Given the description of an element on the screen output the (x, y) to click on. 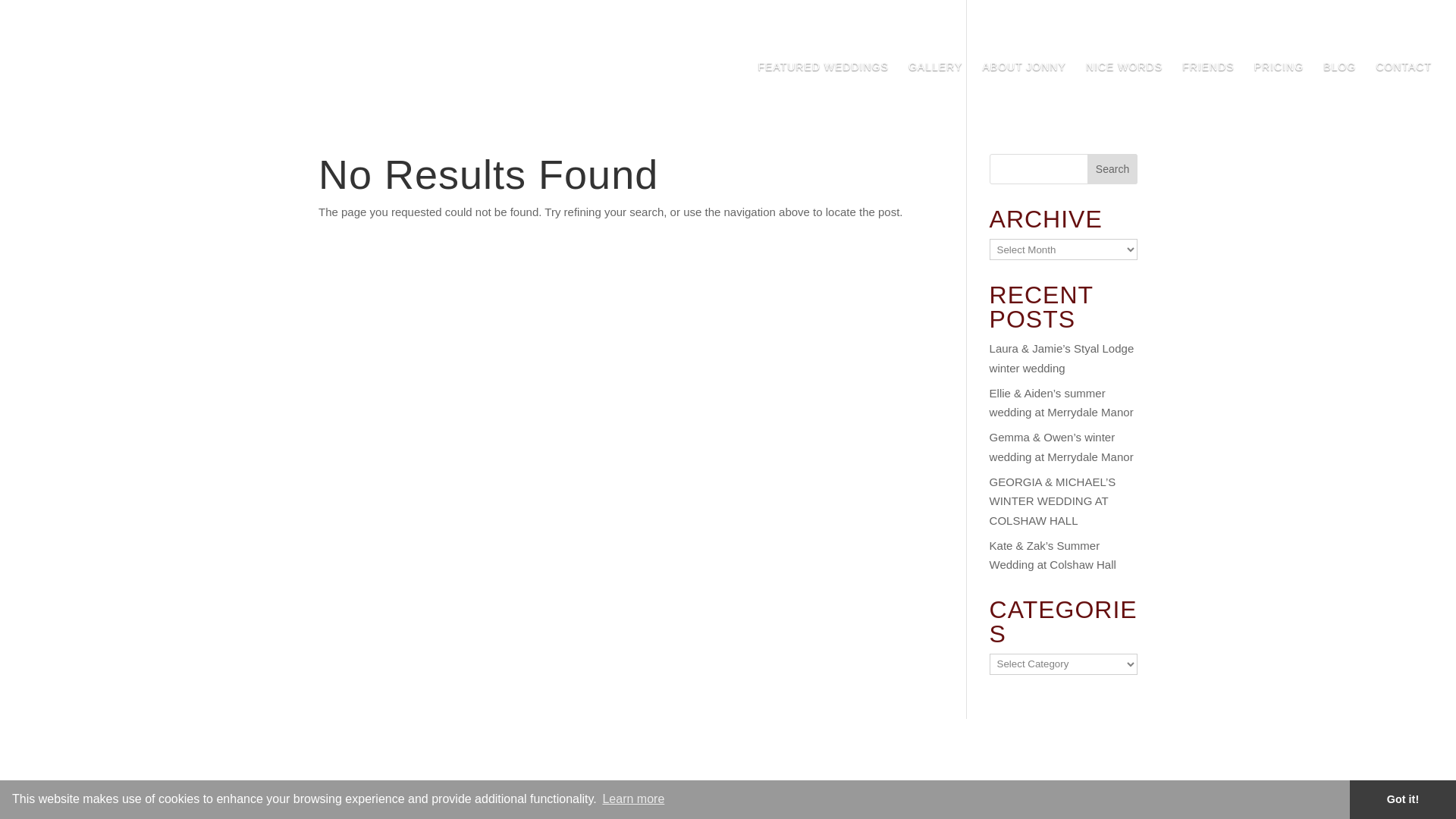
Search (1112, 168)
FRIENDS (1207, 85)
CONTACT (1403, 85)
FEATURED WEDDINGS (823, 85)
ABOUT JONNY (1023, 85)
GALLERY (935, 85)
Search (1112, 168)
PRICING (1278, 85)
NICE WORDS (1123, 85)
